Given the description of an element on the screen output the (x, y) to click on. 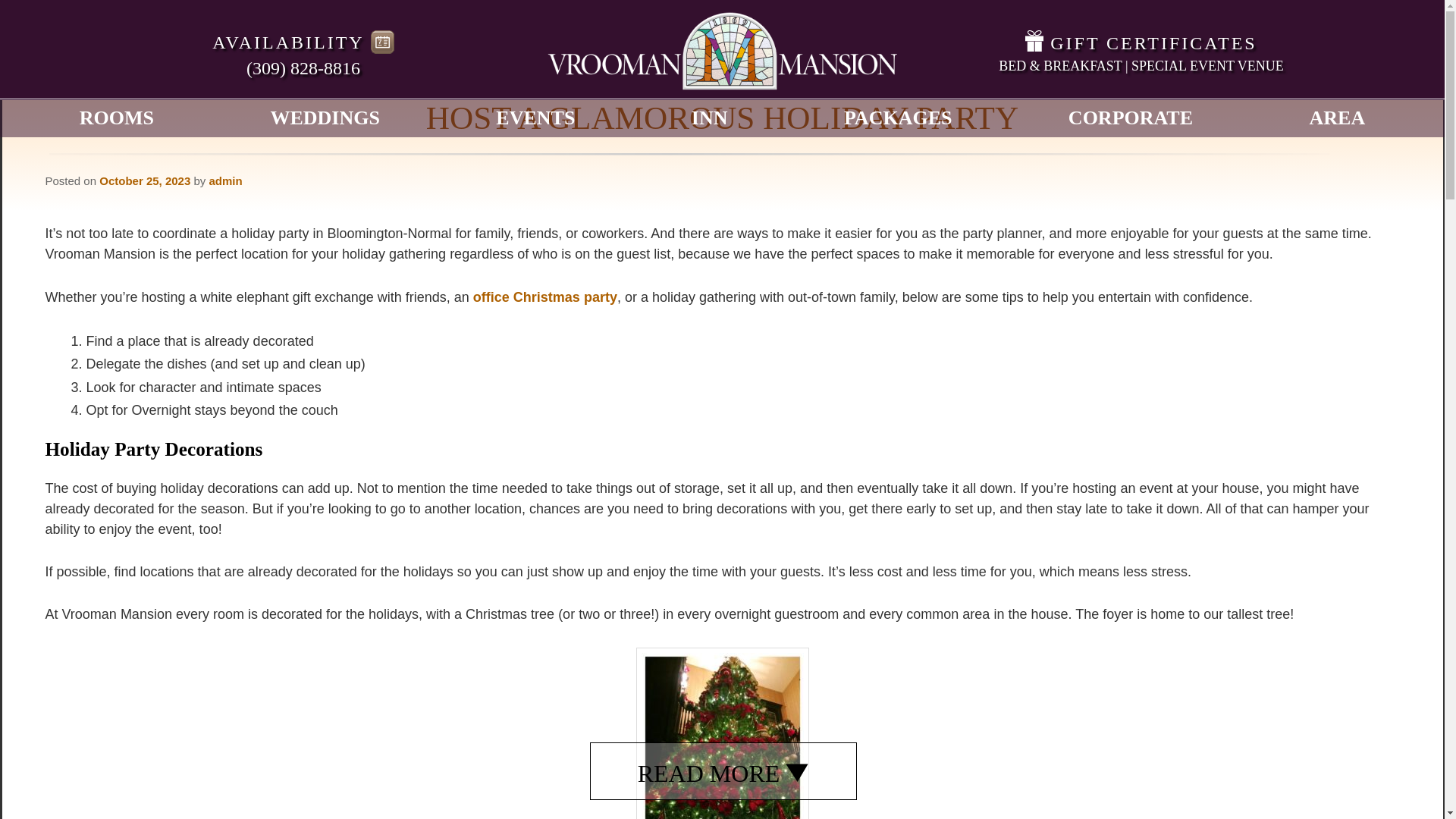
WEDDINGS (323, 118)
2:46 pm (144, 180)
View all posts by admin (224, 180)
AVAILABILITY (303, 42)
INN (709, 118)
GIFT CERTIFICATES (1140, 43)
EVENTS (535, 118)
